Given the description of an element on the screen output the (x, y) to click on. 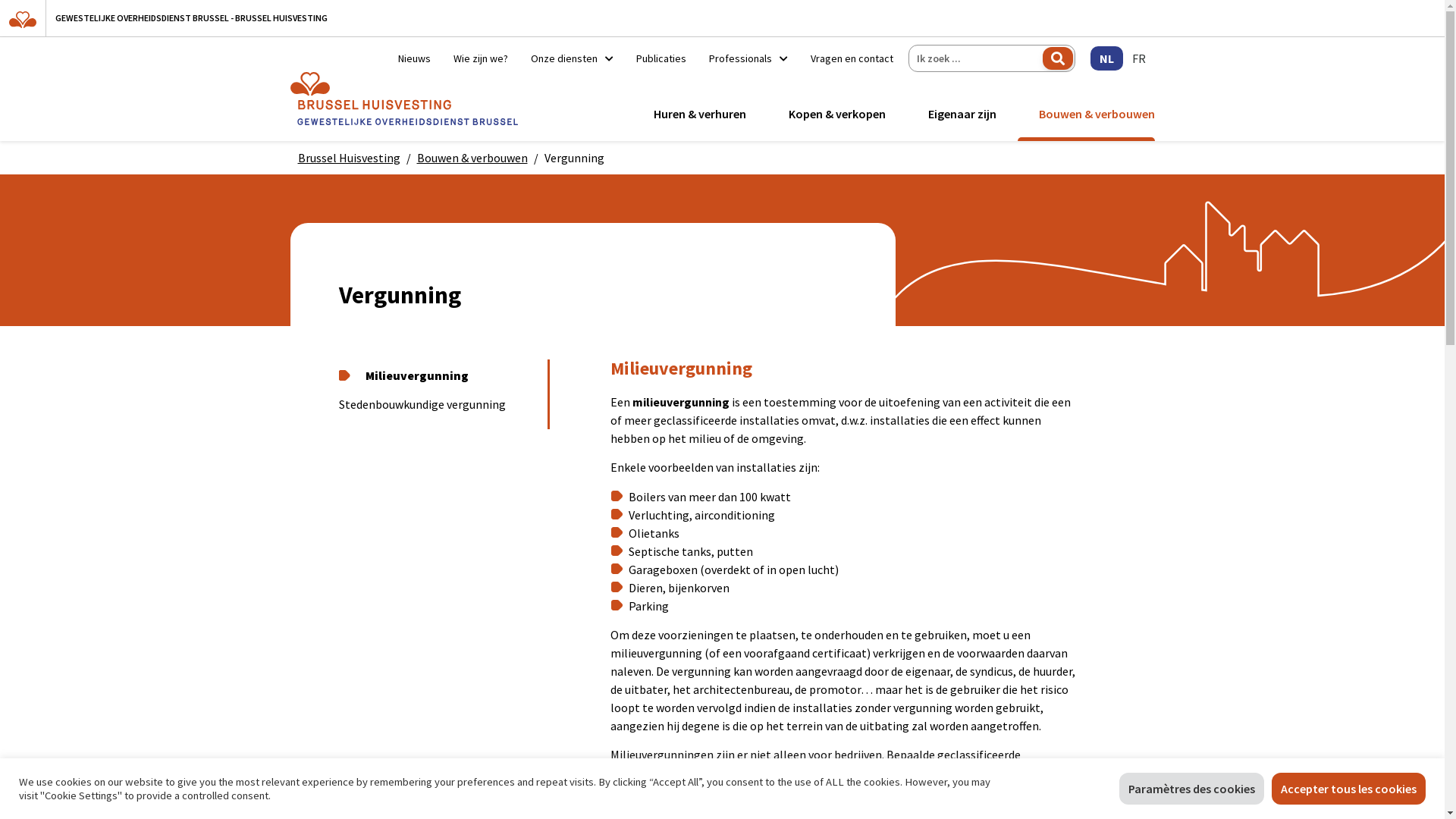
Wie zijn we? Element type: text (479, 58)
Professionals Element type: text (748, 58)
Brussel Huisvesting Element type: text (348, 157)
Zoeken Element type: text (1056, 58)
Bouwen & verbouwen Element type: text (1093, 113)
Eigenaar zijn Element type: text (962, 113)
Milieuvergunning Element type: text (436, 375)
Nieuws Element type: text (414, 58)
Bouwen & verbouwen Element type: text (472, 157)
NL Element type: text (1106, 58)
Accepter tous les cookies Element type: text (1348, 788)
Huren & verhuren Element type: text (699, 113)
Publicaties Element type: text (660, 58)
Stedenbouwkundige vergunning Element type: text (436, 404)
Vragen en contact Element type: text (846, 58)
Kopen & verkopen Element type: text (836, 113)
FR Element type: text (1138, 58)
Onze diensten Element type: text (571, 58)
